Given the description of an element on the screen output the (x, y) to click on. 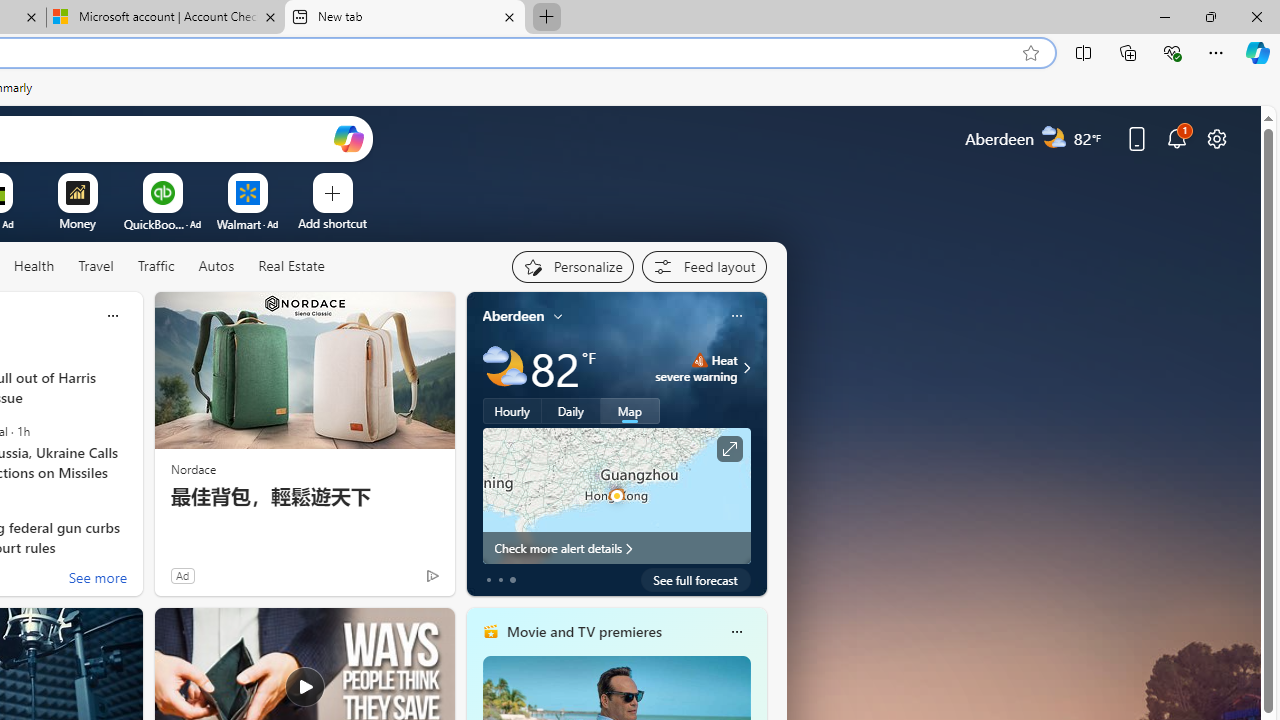
Heat - Severe Heat severe warning (696, 367)
Movie and TV premieres (583, 631)
Notifications (1176, 138)
Larger map  (616, 495)
Real Estate (291, 265)
Partly cloudy (504, 368)
You're following Newsweek (390, 579)
Autos (216, 267)
tab-2 (511, 579)
Feed settings (703, 266)
Money (77, 223)
Nordace (193, 468)
